Given the description of an element on the screen output the (x, y) to click on. 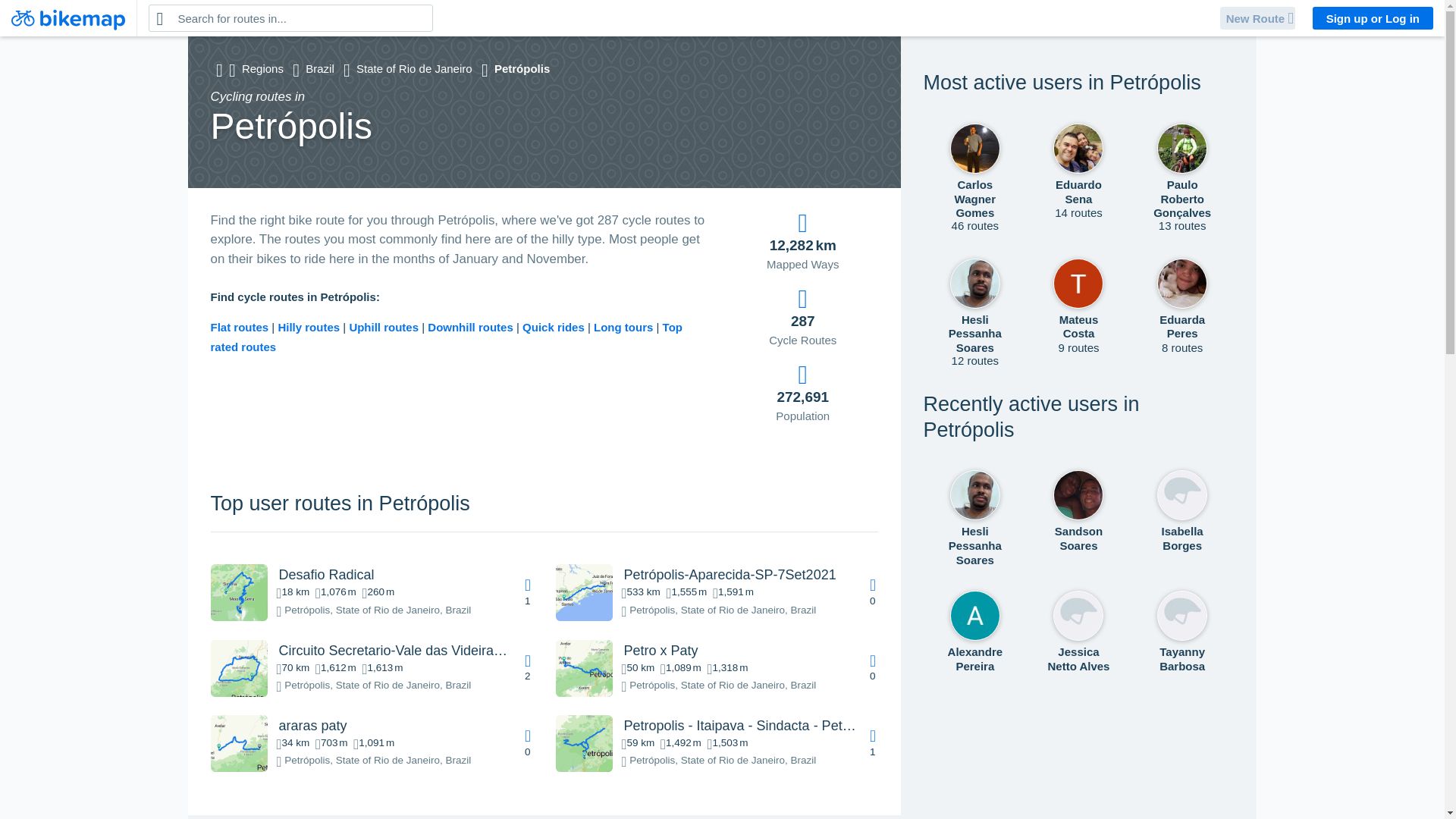
Long tours (625, 327)
Home (68, 18)
Regions (262, 68)
State of Rio de Janeiro (413, 68)
Petro x Paty (660, 650)
Top rated routes (446, 336)
Quick rides (555, 327)
araras paty (313, 725)
Petropolis - Itaipava - Sindacta - Petropolis (752, 725)
Desafio Radical (326, 574)
Flat routes (241, 327)
Downhill routes (472, 327)
New Route (1257, 17)
Sign up or Log in (1372, 17)
